Given the description of an element on the screen output the (x, y) to click on. 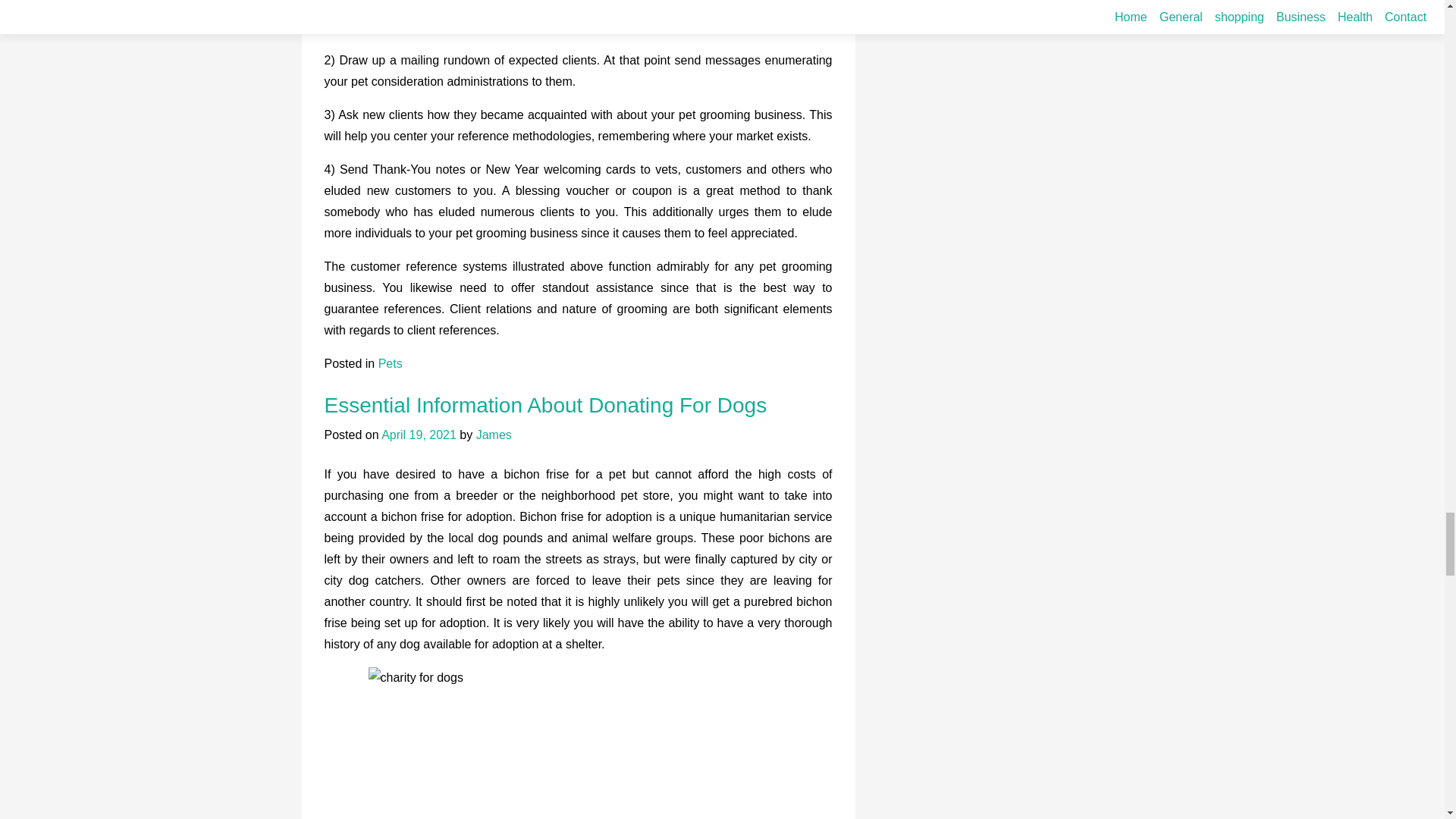
Pets (390, 363)
April 19, 2021 (419, 434)
Essential Information About Donating For Dogs (545, 404)
